Given the description of an element on the screen output the (x, y) to click on. 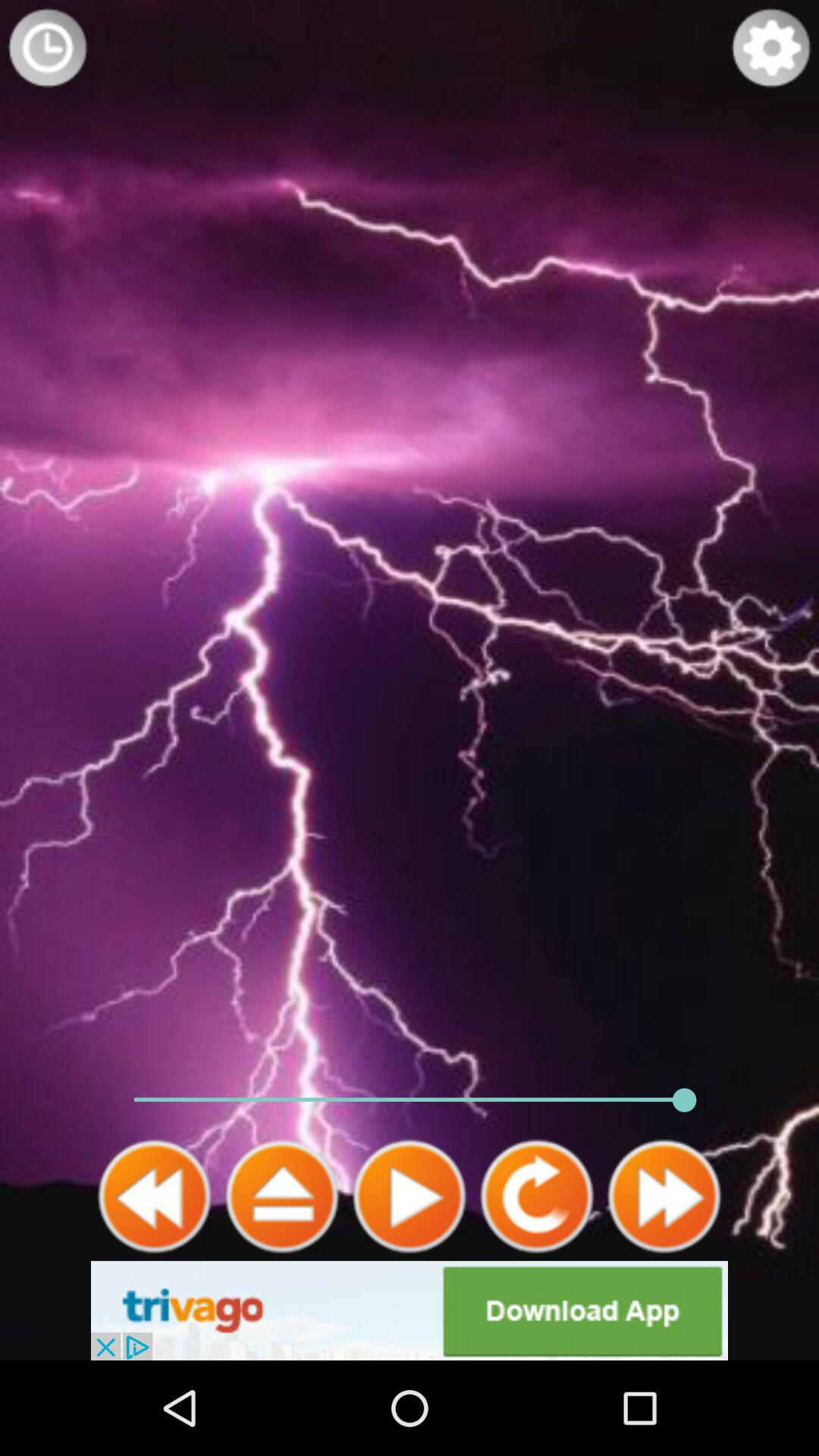
play forward option (664, 1196)
